Given the description of an element on the screen output the (x, y) to click on. 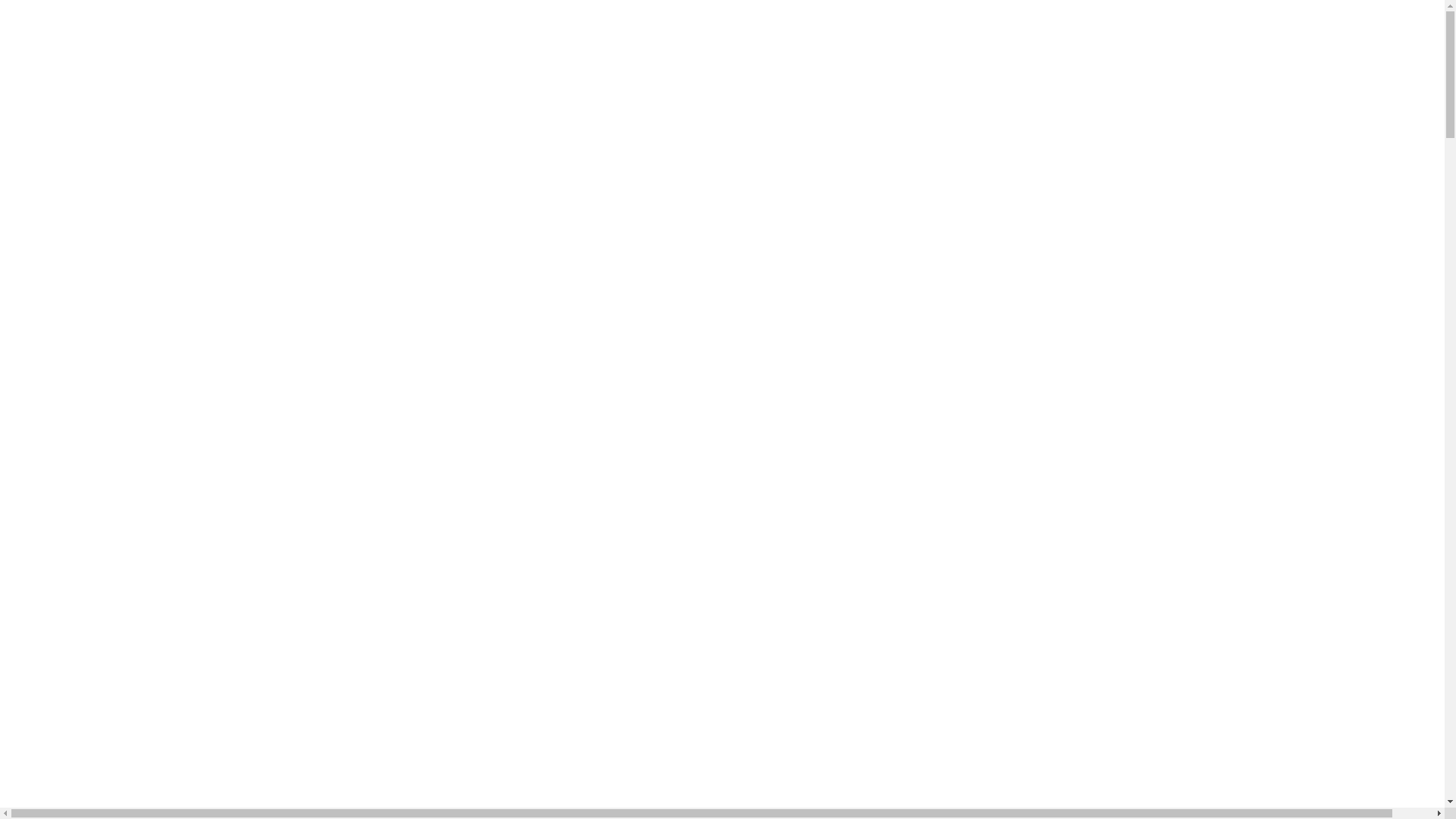
OBRNI IGRU Element type: text (37, 169)
Vijesti Element type: text (20, 181)
Komunikacija Element type: text (37, 60)
Yellow brick metod Element type: text (50, 36)
VRH Element type: text (1417, 712)
kontakt Element type: text (23, 206)
Coaching Element type: text (28, 48)
NLP Element type: text (16, 109)
HR Razvoj Element type: text (31, 84)
Saville assessment Element type: text (51, 133)
PCM Element type: text (17, 121)
Liderstvo Element type: text (27, 72)
Sertifikovani treninzi Element type: text (53, 97)
Biznis Element type: text (20, 24)
